Given the description of an element on the screen output the (x, y) to click on. 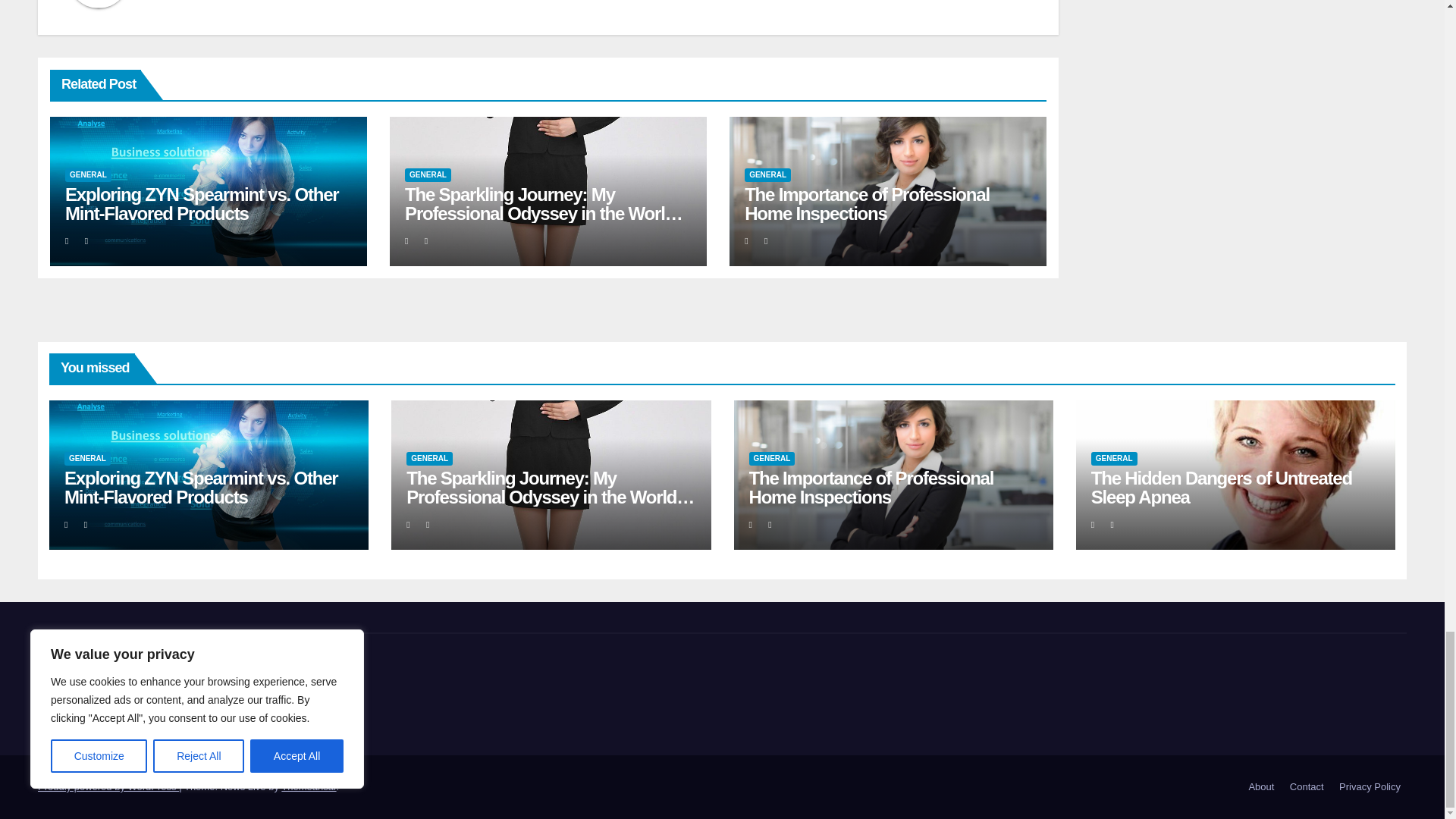
About (1260, 786)
Privacy Policy (1369, 786)
Contact (1307, 786)
Permalink to: The Hidden Dangers of Untreated Sleep Apnea (1221, 486)
